Given the description of an element on the screen output the (x, y) to click on. 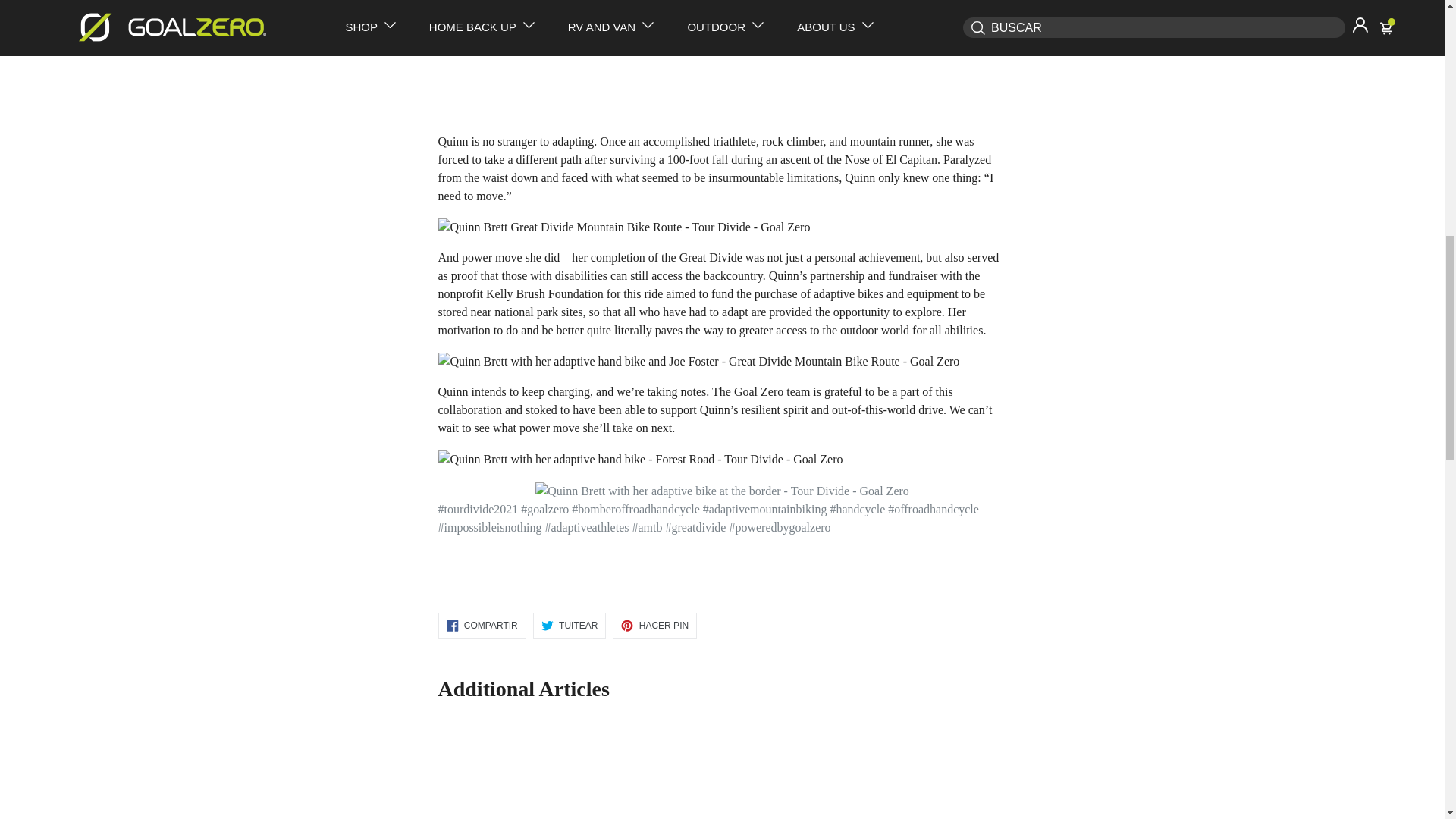
Tuitear en Twitter (569, 625)
Compartir en Facebook (481, 625)
YouTube video player (650, 57)
Pinear en Pinterest (654, 625)
